Given the description of an element on the screen output the (x, y) to click on. 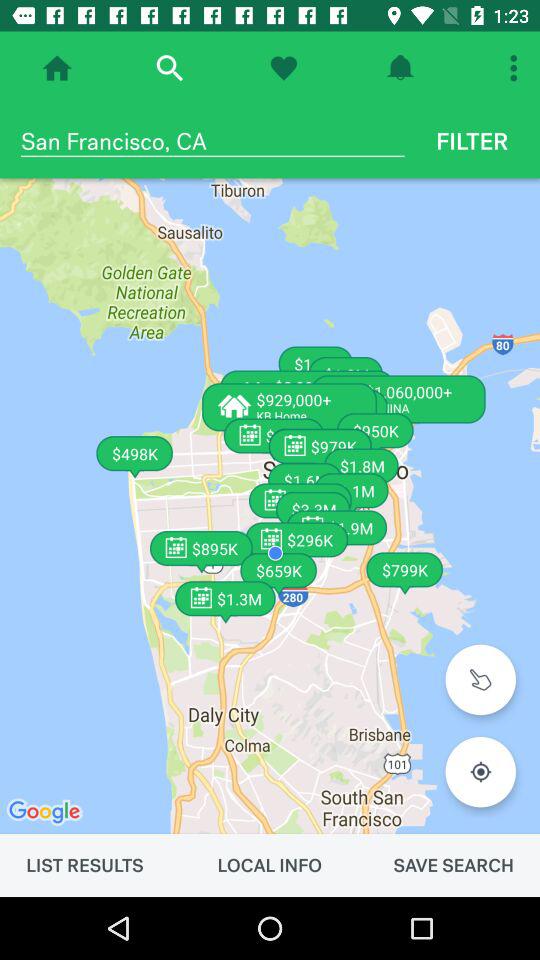
open item below filter (480, 679)
